Given the description of an element on the screen output the (x, y) to click on. 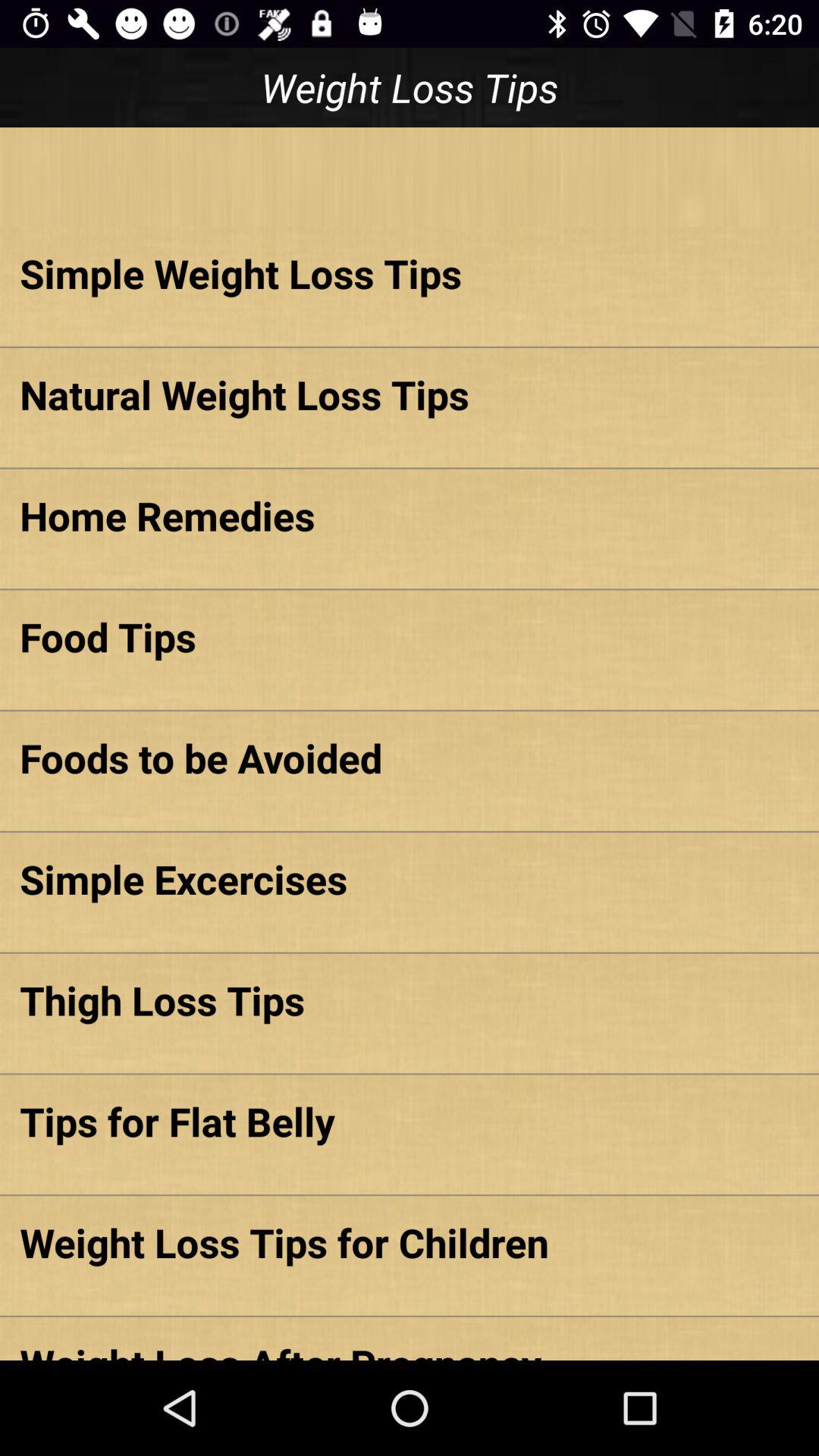
choose the item below the natural weight loss item (409, 515)
